Given the description of an element on the screen output the (x, y) to click on. 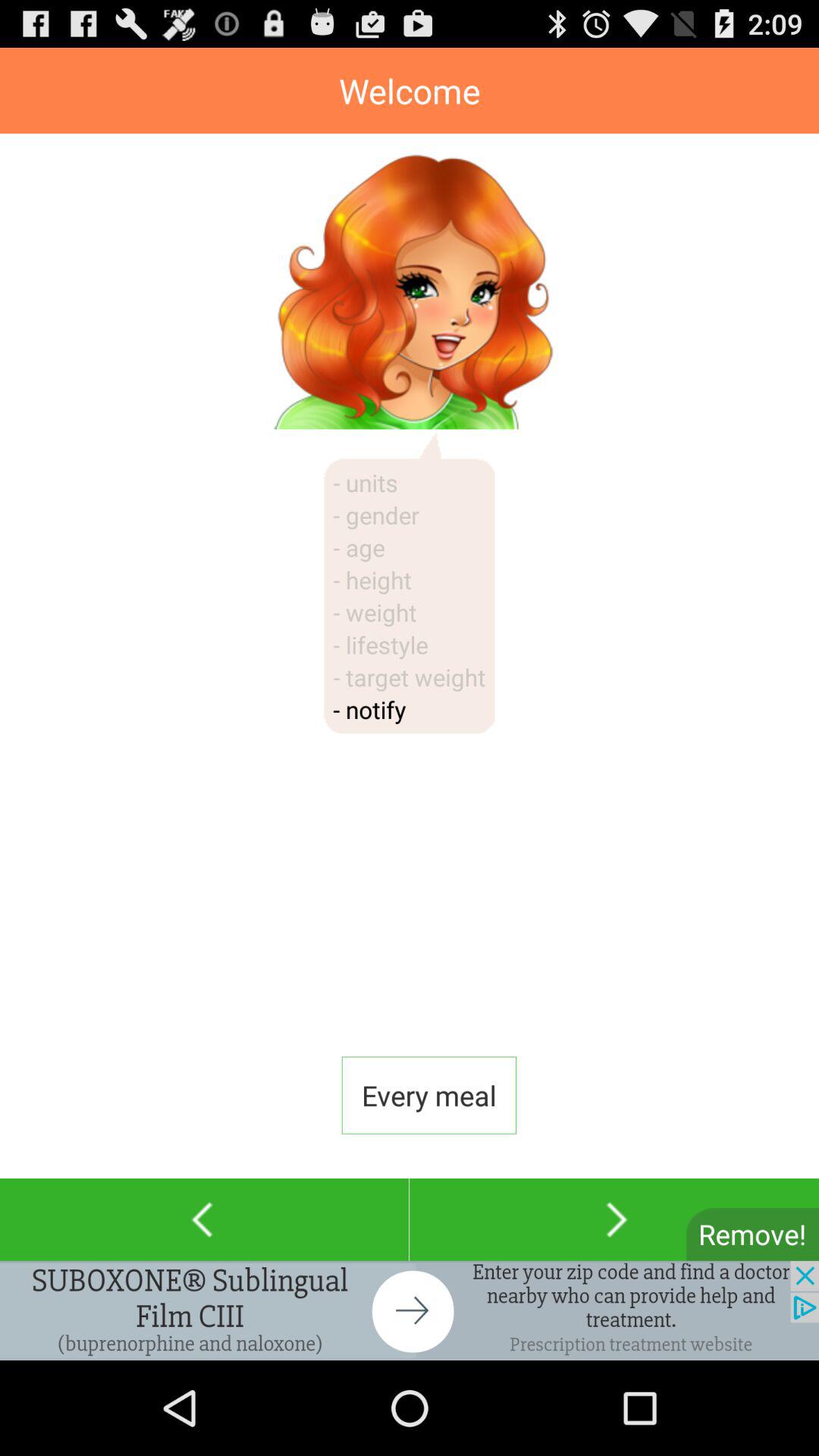
forward right (614, 1219)
